Given the description of an element on the screen output the (x, y) to click on. 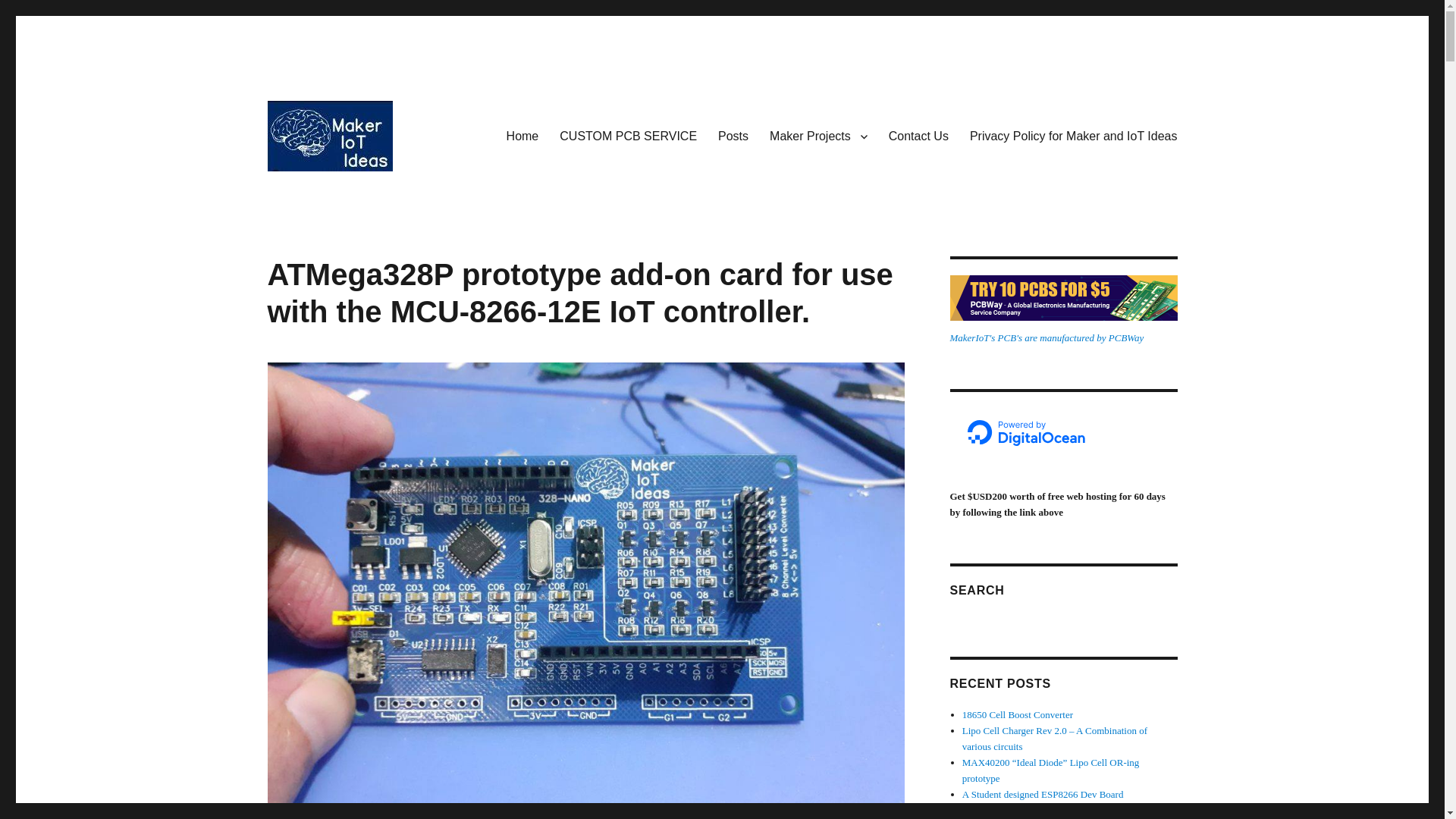
Privacy Policy for Maker and IoT Ideas (1073, 135)
Maker Projects (817, 135)
CUSTOM PCB SERVICE (627, 135)
Maker and IOT Ideas (369, 195)
Posts (732, 135)
Contact Us (918, 135)
Home (523, 135)
